Given the description of an element on the screen output the (x, y) to click on. 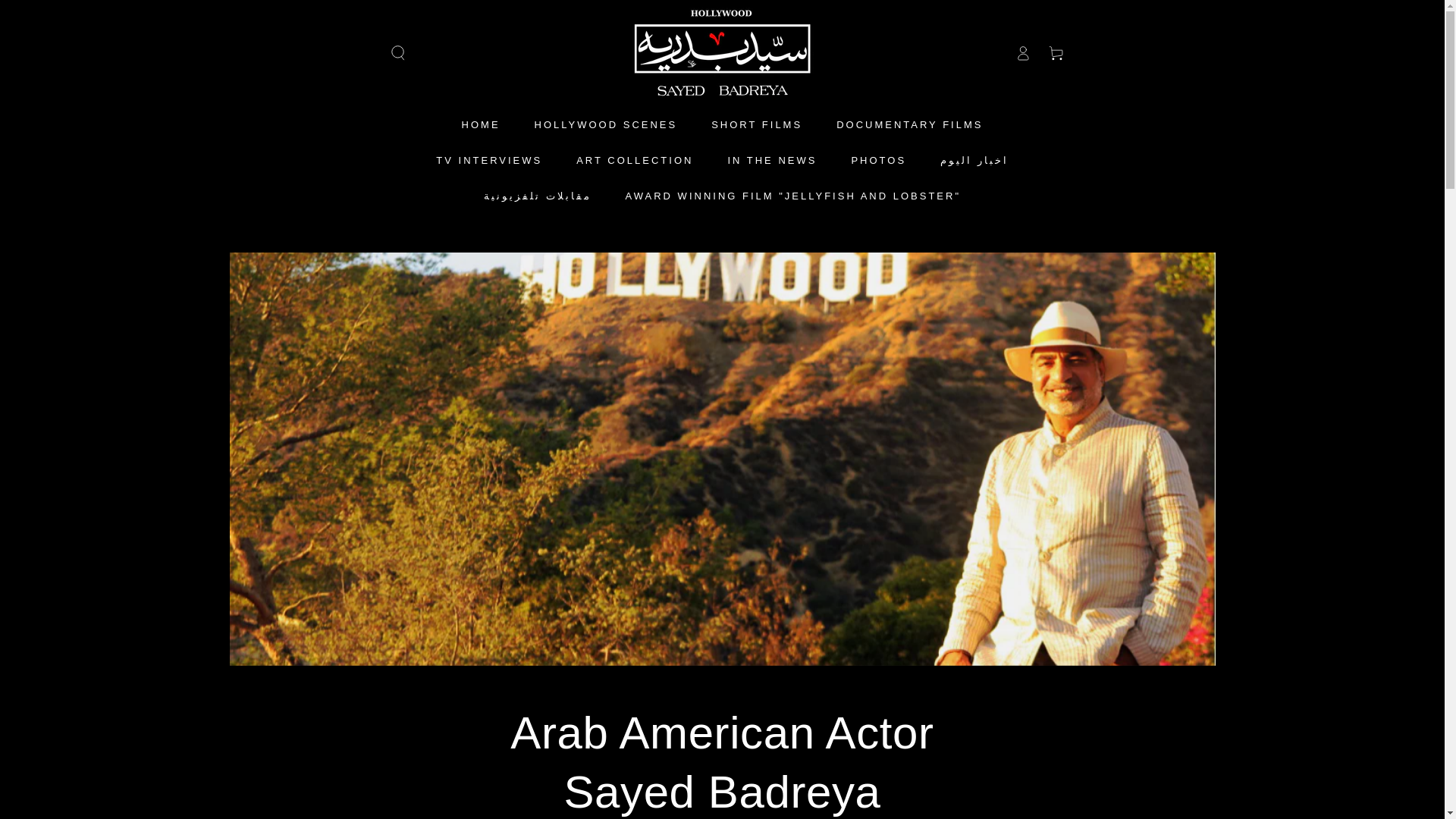
PHOTOS (878, 160)
TV INTERVIEWS (489, 160)
SKIP TO CONTENT (67, 14)
SHORT FILMS (756, 123)
DOCUMENTARY FILMS (909, 123)
IN THE NEWS (772, 160)
ART COLLECTION (634, 160)
Log in (1022, 52)
HOME (480, 123)
AWARD WINNING FILM "JELLYFISH AND LOBSTER" (793, 195)
HOLLYWOOD SCENES (605, 123)
